Given the description of an element on the screen output the (x, y) to click on. 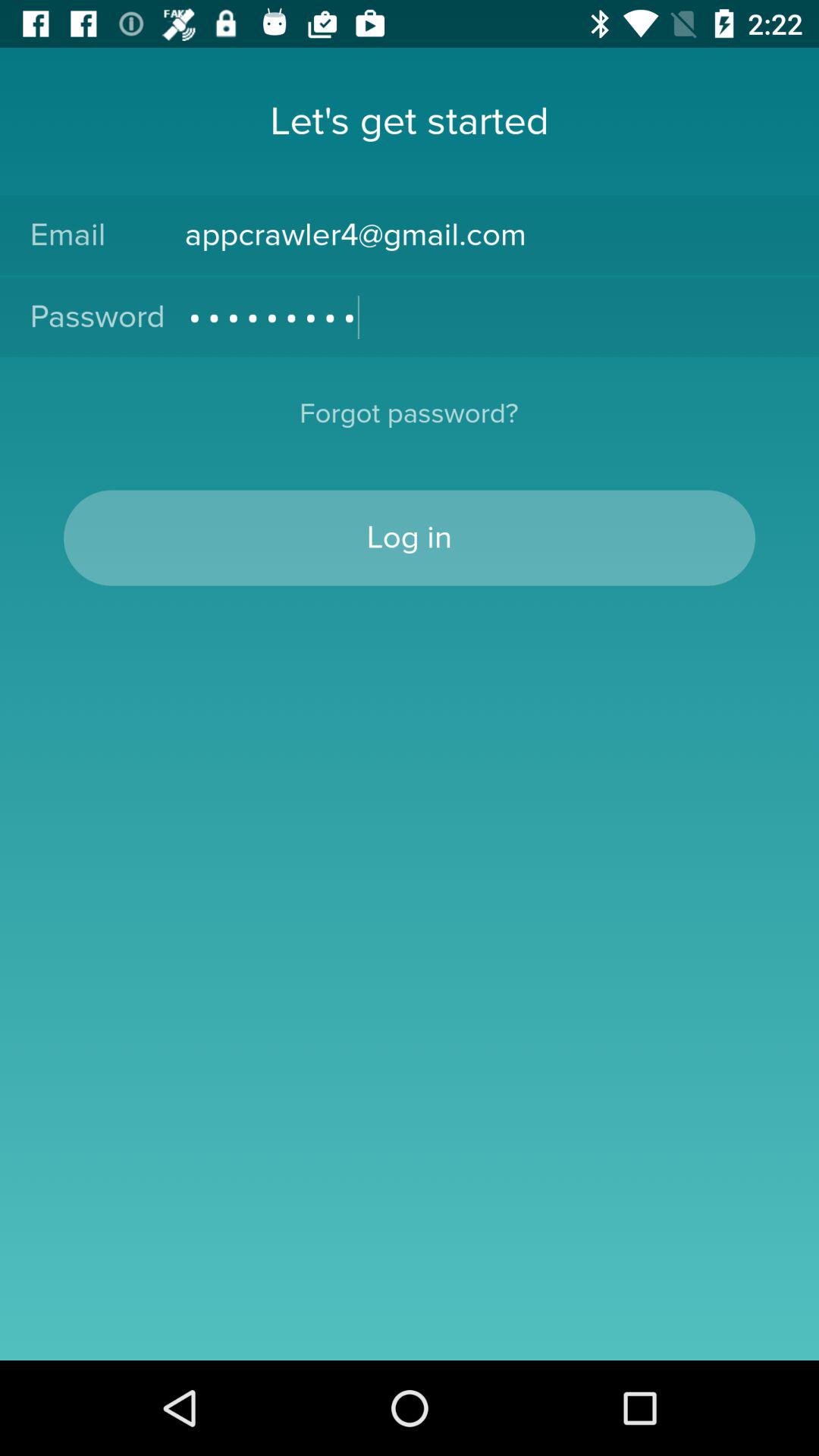
flip until the log in (409, 537)
